Given the description of an element on the screen output the (x, y) to click on. 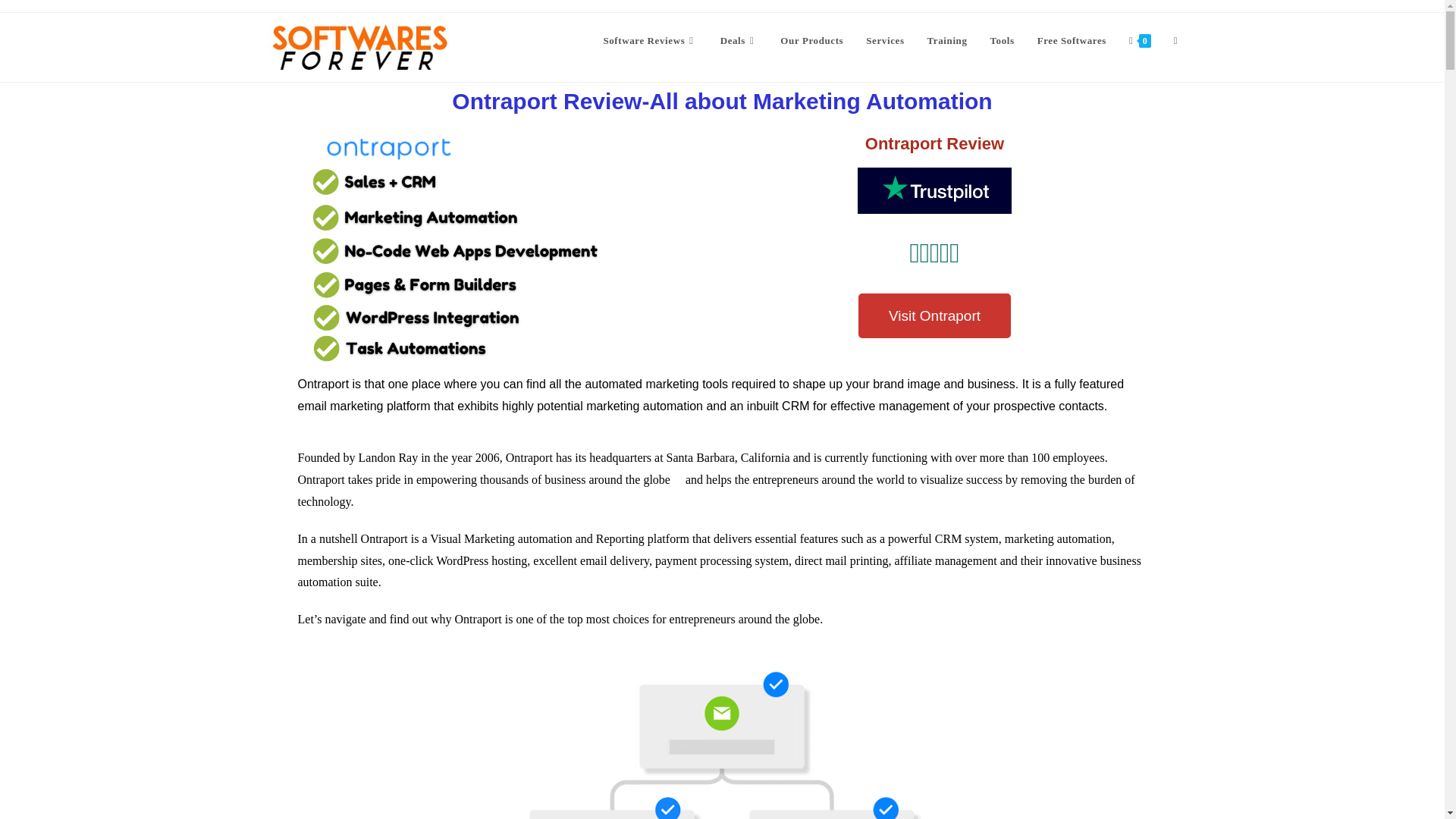
Free Softwares (1072, 40)
Our Products (811, 40)
Software Reviews (649, 40)
Services (884, 40)
Deals (739, 40)
Training (946, 40)
